Given the description of an element on the screen output the (x, y) to click on. 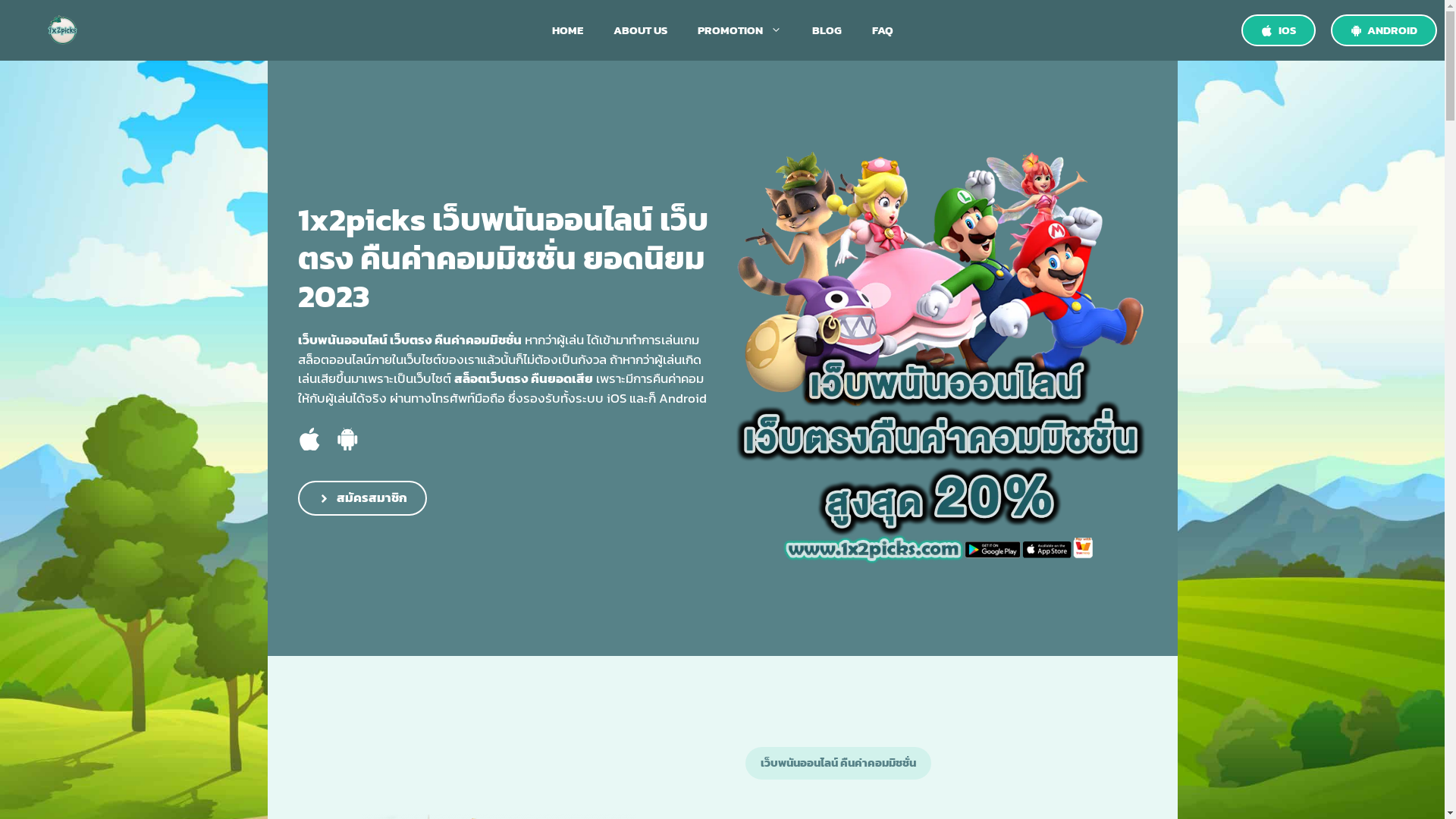
BLOG Element type: text (826, 30)
ABOUT US Element type: text (639, 30)
HOME Element type: text (567, 30)
FAQ Element type: text (882, 30)
1x2Picks Element type: hover (62, 30)
ANDROID Element type: text (1383, 30)
PROMOTION Element type: text (739, 30)
IOS Element type: text (1278, 30)
